Given the description of an element on the screen output the (x, y) to click on. 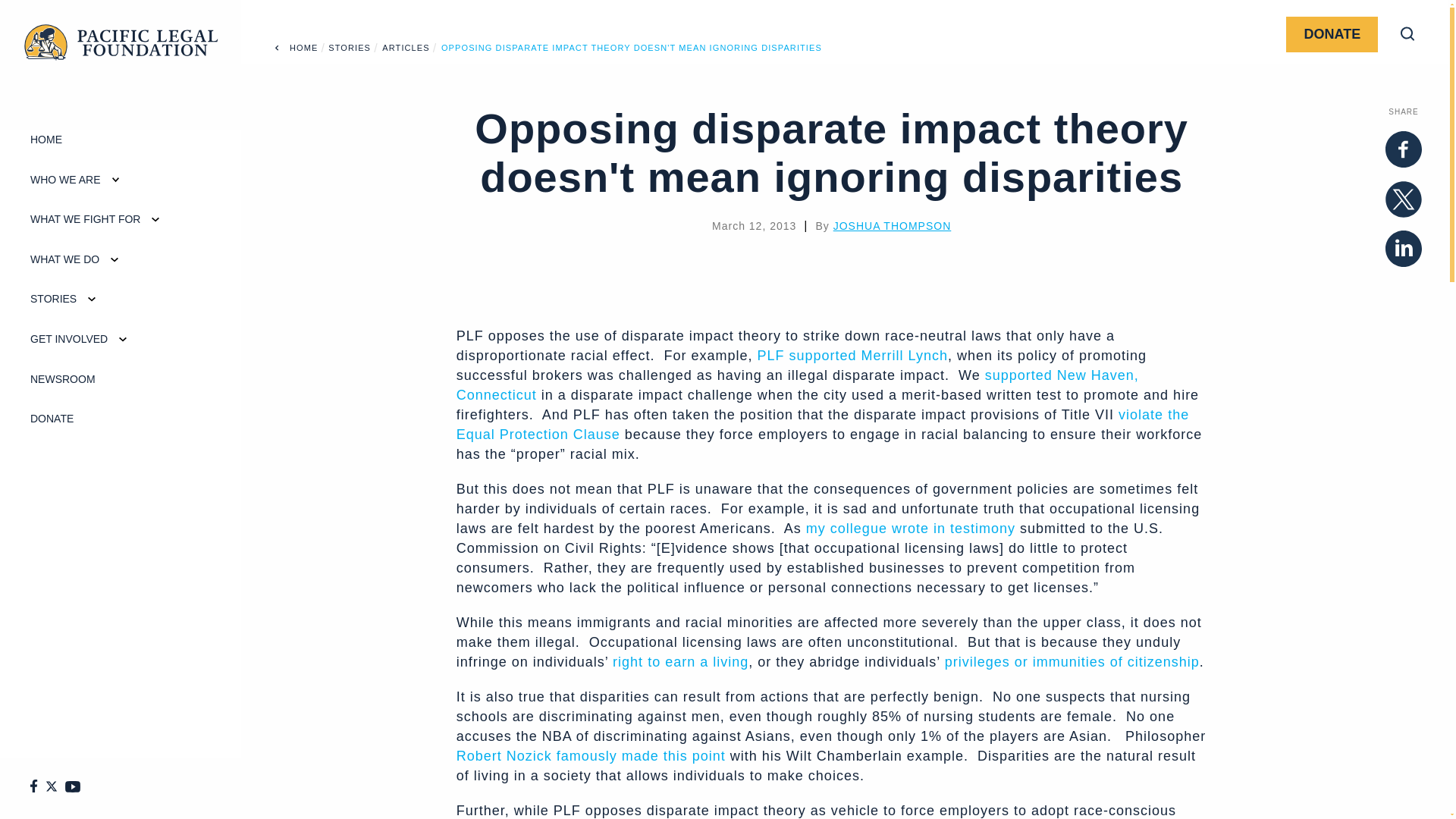
Follow Us on Twitter (55, 788)
HOME (31, 140)
WHO WE ARE (50, 180)
Subscribe on YouTube (76, 788)
